Given the description of an element on the screen output the (x, y) to click on. 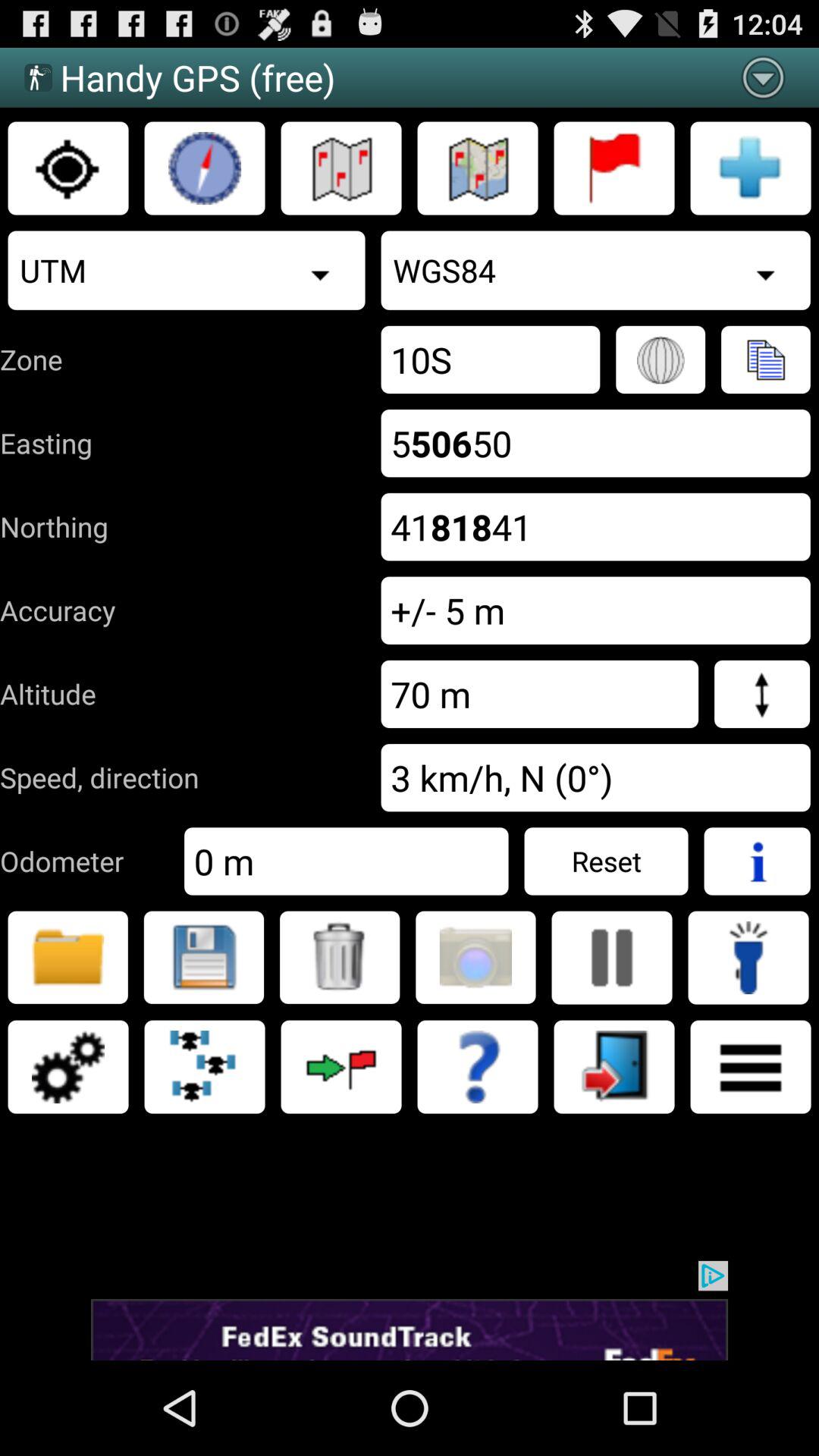
map (341, 167)
